Given the description of an element on the screen output the (x, y) to click on. 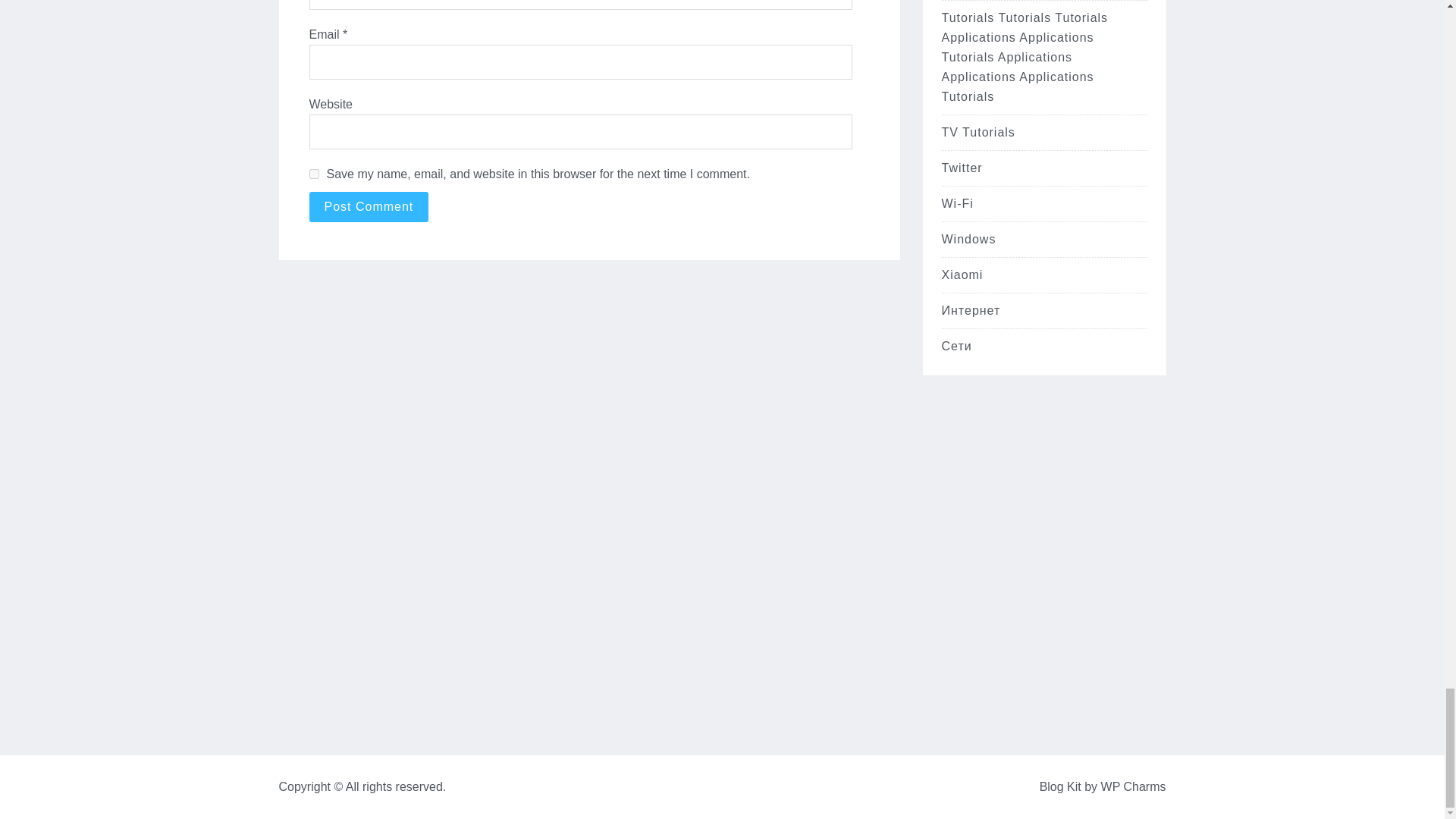
yes (313, 173)
Post Comment (368, 206)
Post Comment (368, 206)
